Given the description of an element on the screen output the (x, y) to click on. 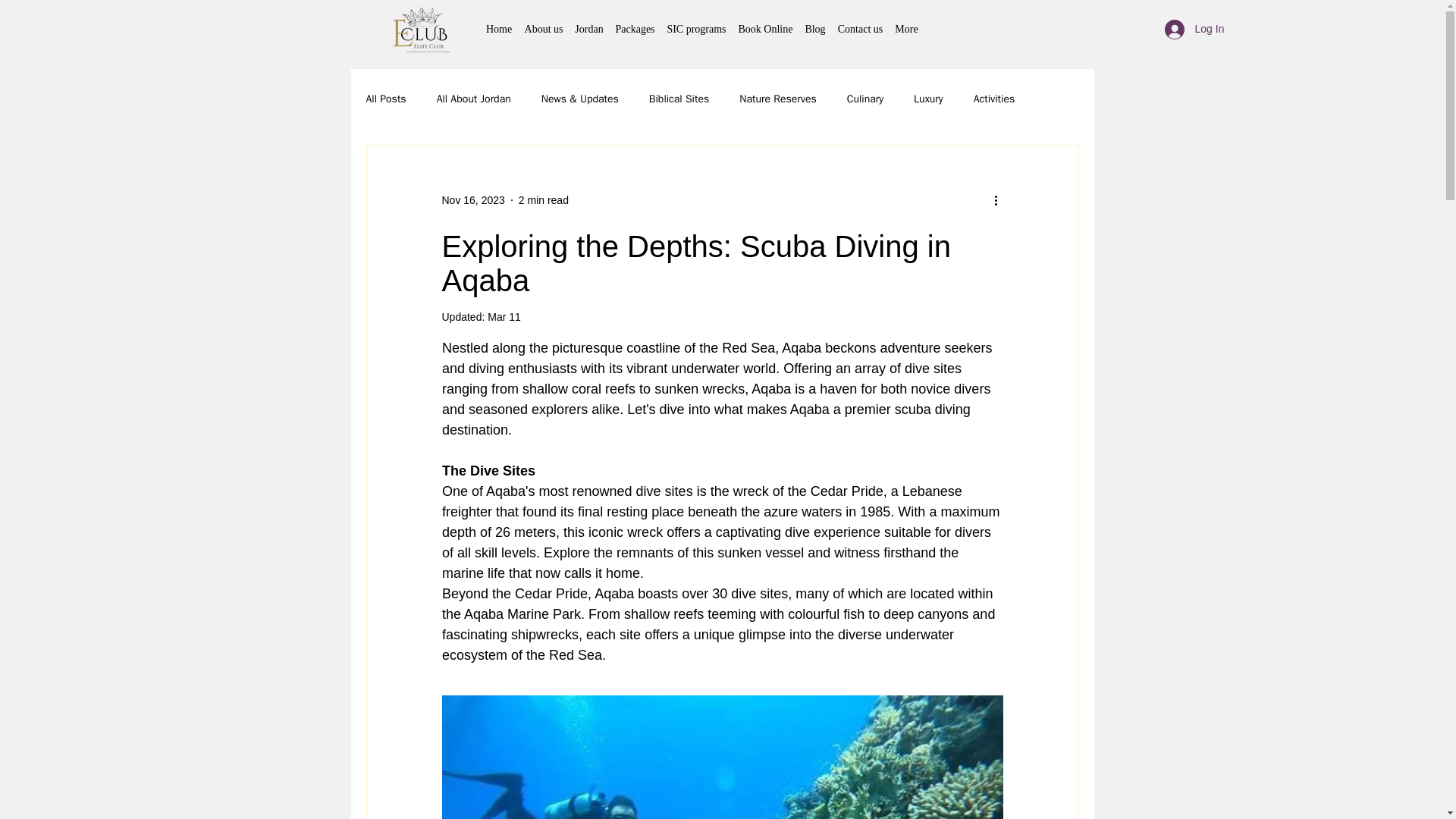
Home (499, 28)
Luxury (928, 99)
All About Jordan (473, 99)
SIC programs (696, 28)
About us (543, 28)
Blog (815, 28)
Nature Reserves (777, 99)
Nov 16, 2023 (472, 200)
Culinary (865, 99)
Activities (994, 99)
Elite Club Logo (421, 29)
Jordan (588, 28)
Log In (1188, 29)
All Posts (385, 99)
Packages (635, 28)
